Given the description of an element on the screen output the (x, y) to click on. 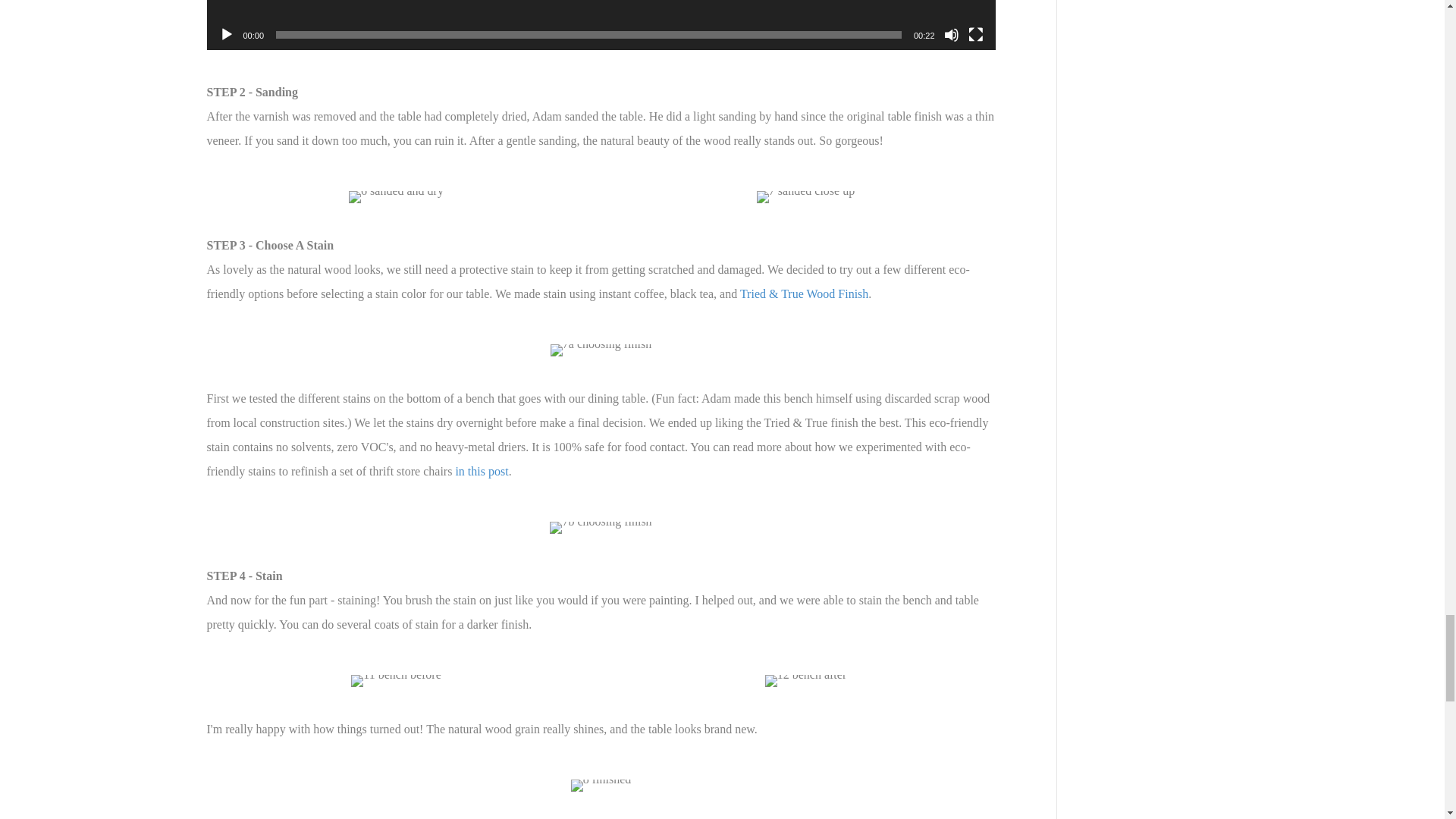
Mute (950, 34)
in this post (481, 471)
6 sanded and dry (396, 196)
Fullscreen (975, 34)
7a choosing finish (600, 349)
7 sanded close up (805, 196)
7b choosing finish (600, 527)
Play (225, 34)
